Given the description of an element on the screen output the (x, y) to click on. 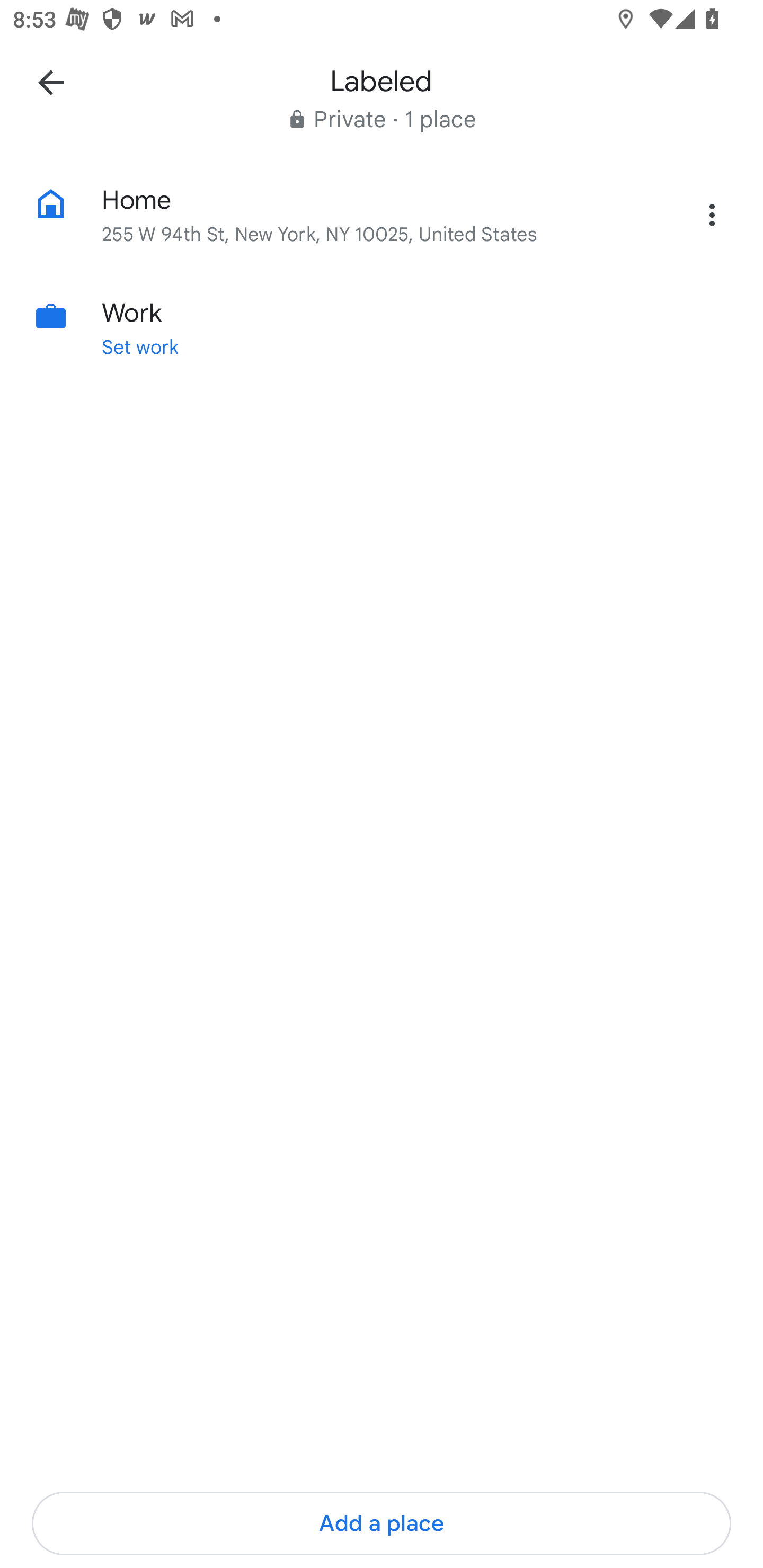
Navigate up (50, 81)
Options for Home (711, 214)
Work Set work (381, 327)
Add a place Add a place Add a place (381, 1522)
